Given the description of an element on the screen output the (x, y) to click on. 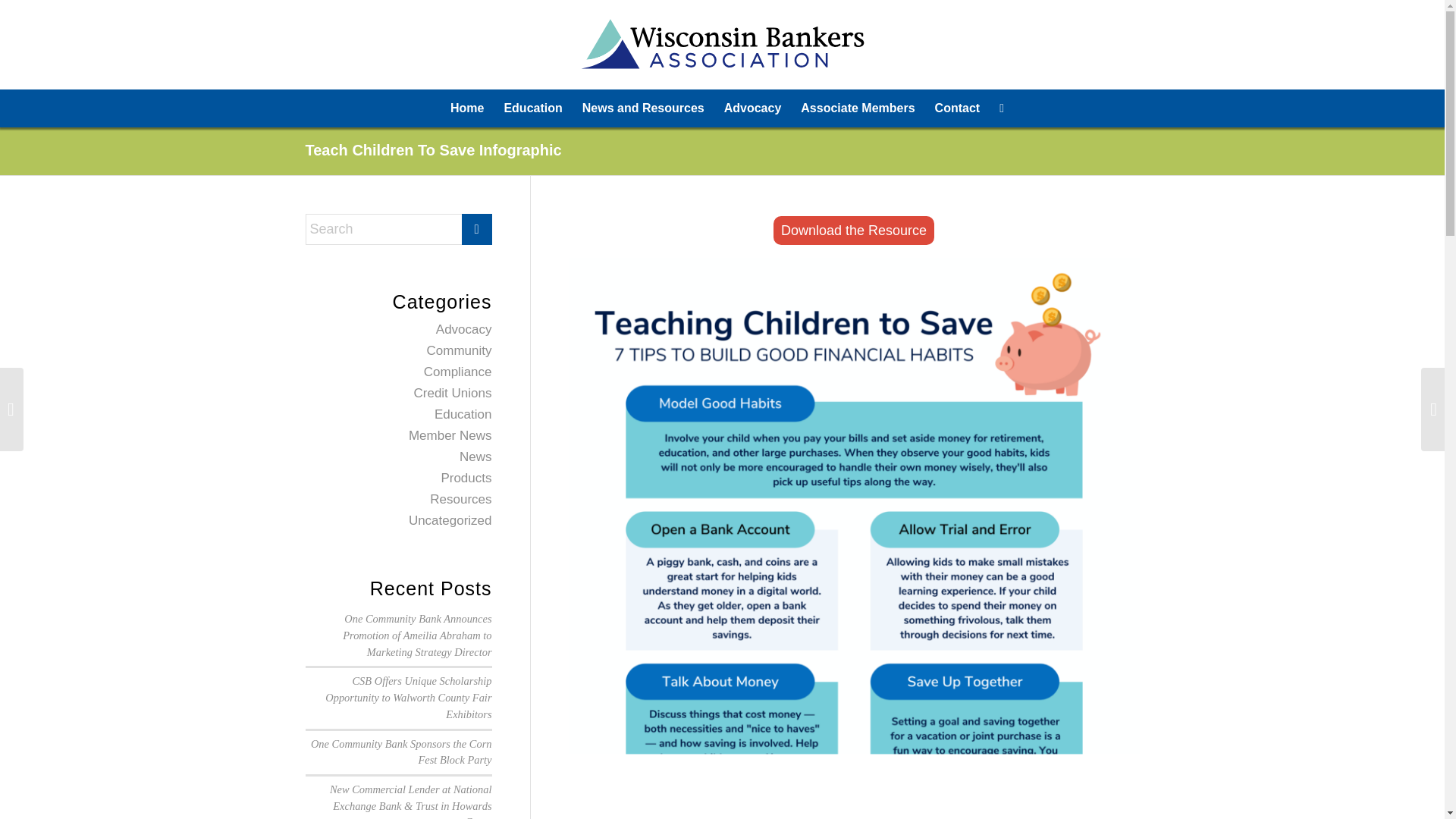
Education (462, 414)
Banking Industry Education (532, 108)
Contact (957, 108)
Wisconsin-Bankers-Association-logo (722, 44)
Wisconsin Bankers Association (467, 108)
Permanent Link: Teach Children To Save Infographic (432, 149)
Community (459, 350)
Advocacy (753, 108)
Wisconsin Bank Industry Advocacy (753, 108)
News (476, 456)
